Given the description of an element on the screen output the (x, y) to click on. 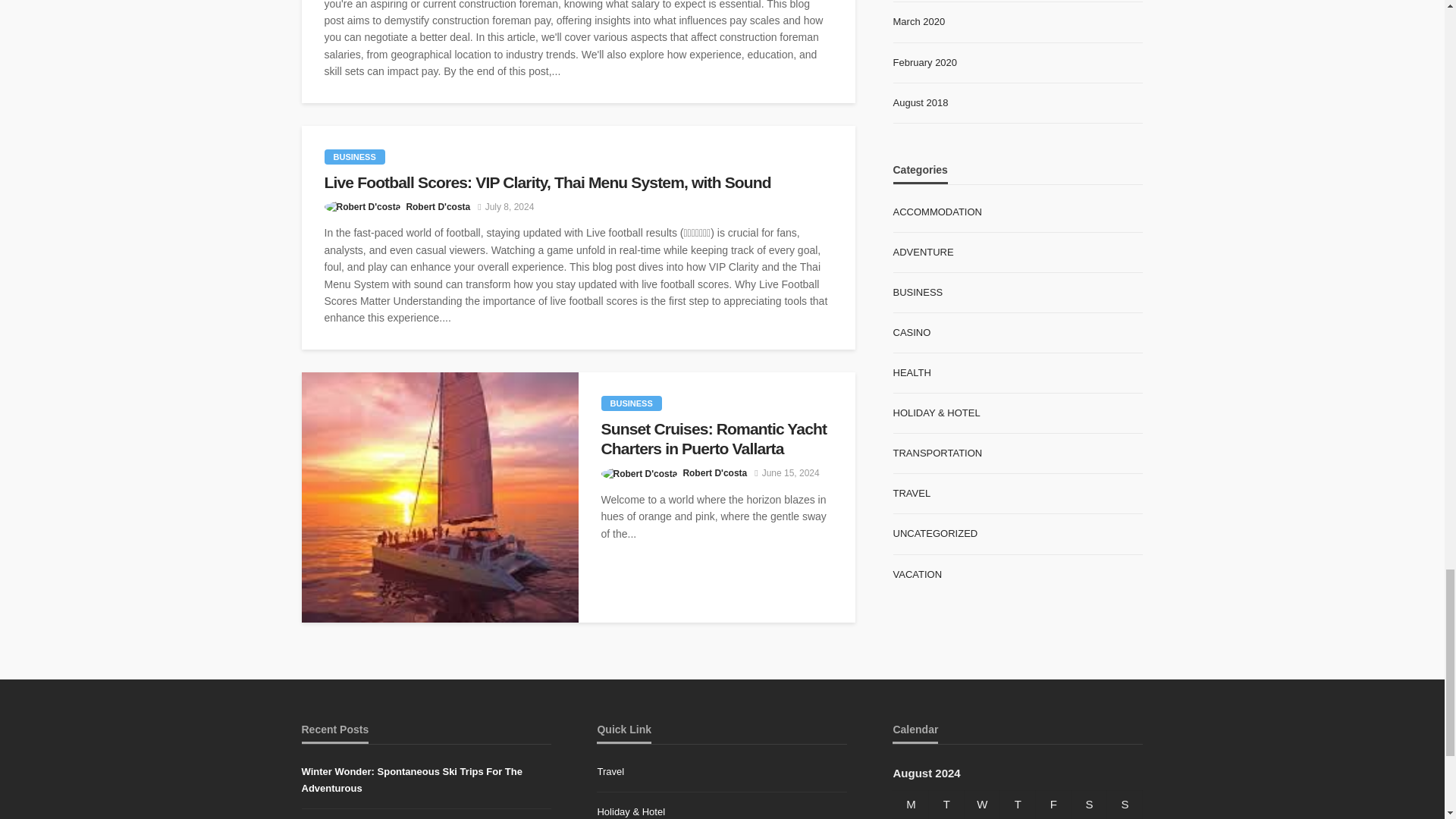
business (354, 156)
Sunset Cruises: Romantic Yacht Charters in Puerto Vallarta (439, 497)
